Given the description of an element on the screen output the (x, y) to click on. 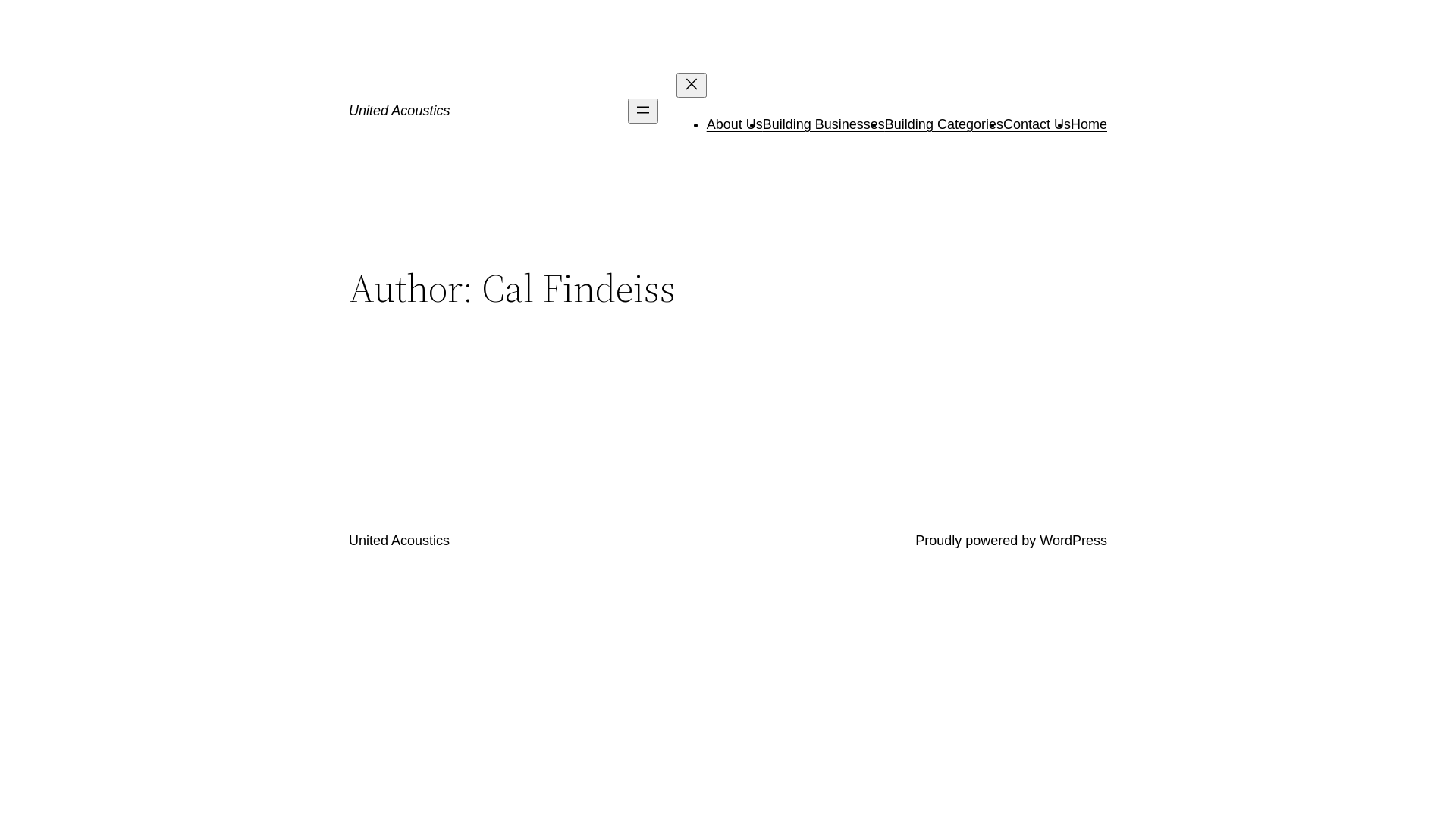
About Us Element type: text (734, 123)
Contact Us Element type: text (1036, 123)
WordPress Element type: text (1073, 540)
United Acoustics Element type: text (398, 540)
Building Businesses Element type: text (823, 123)
Building Categories Element type: text (943, 123)
United Acoustics Element type: text (398, 110)
Home Element type: text (1088, 123)
